Given the description of an element on the screen output the (x, y) to click on. 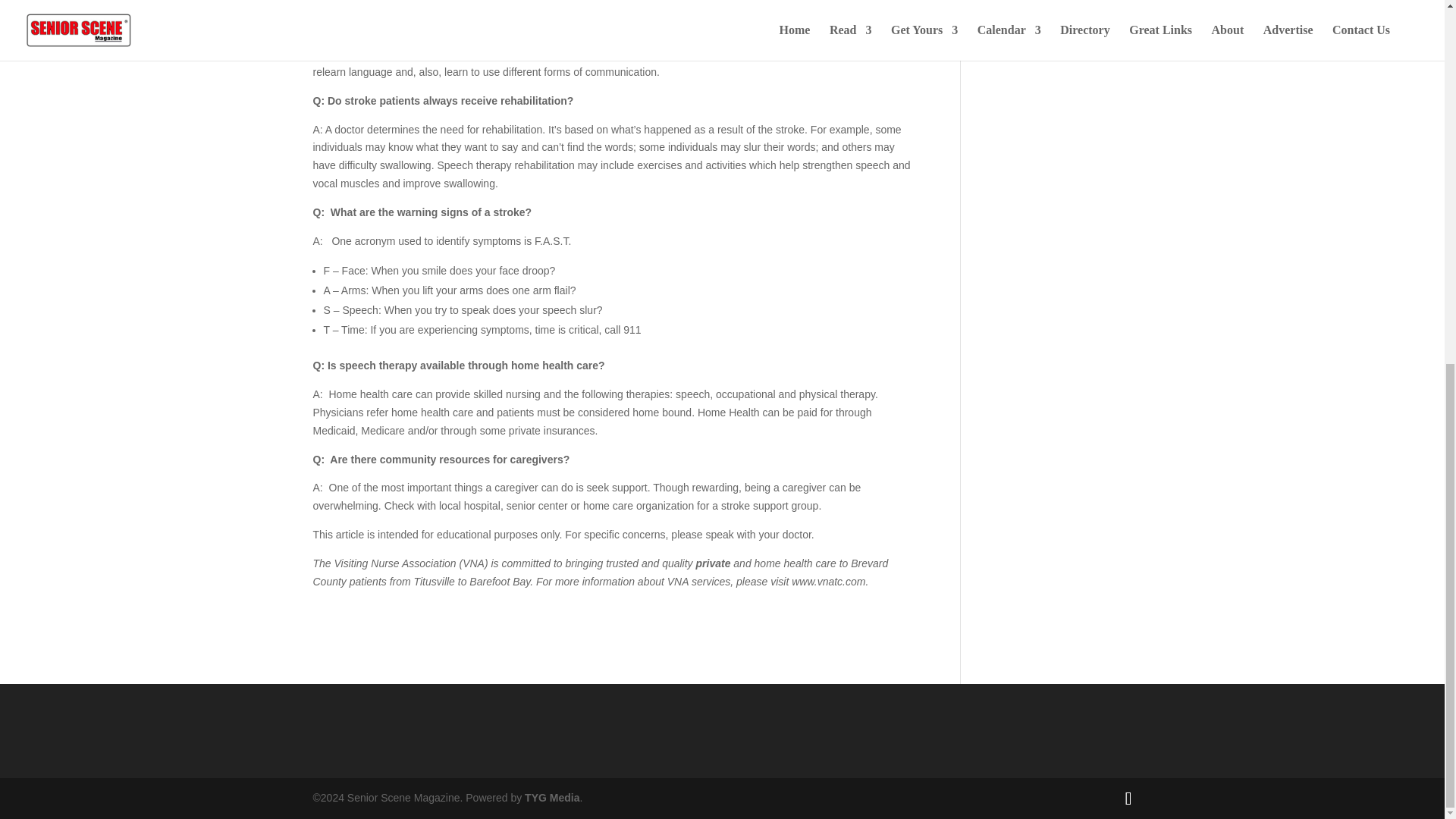
TYG Media (551, 797)
